Given the description of an element on the screen output the (x, y) to click on. 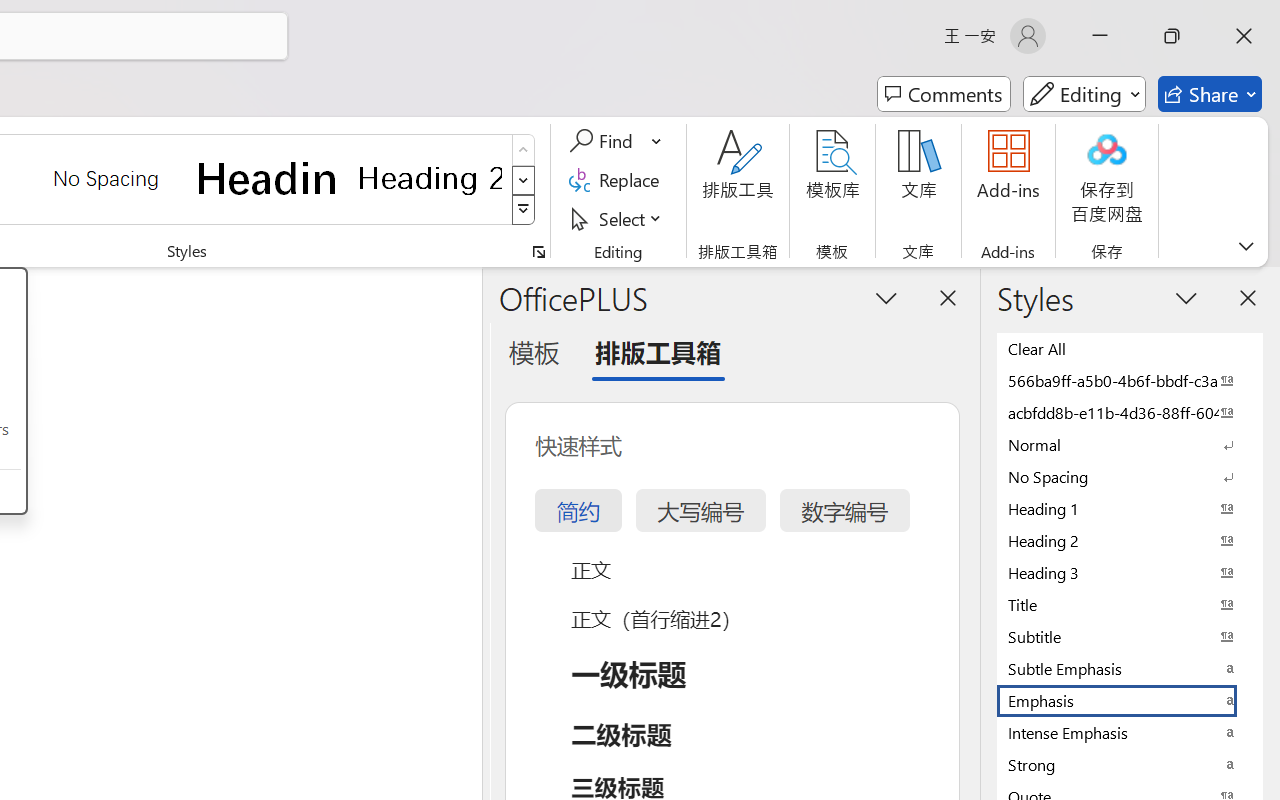
Heading 3 (1130, 572)
Minimize (1099, 36)
Heading 2 (429, 178)
Styles (523, 209)
Close (1244, 36)
Find (616, 141)
Restore Down (1172, 36)
Strong (1130, 764)
Title (1130, 604)
Comments (943, 94)
Intense Emphasis (1130, 732)
